Given the description of an element on the screen output the (x, y) to click on. 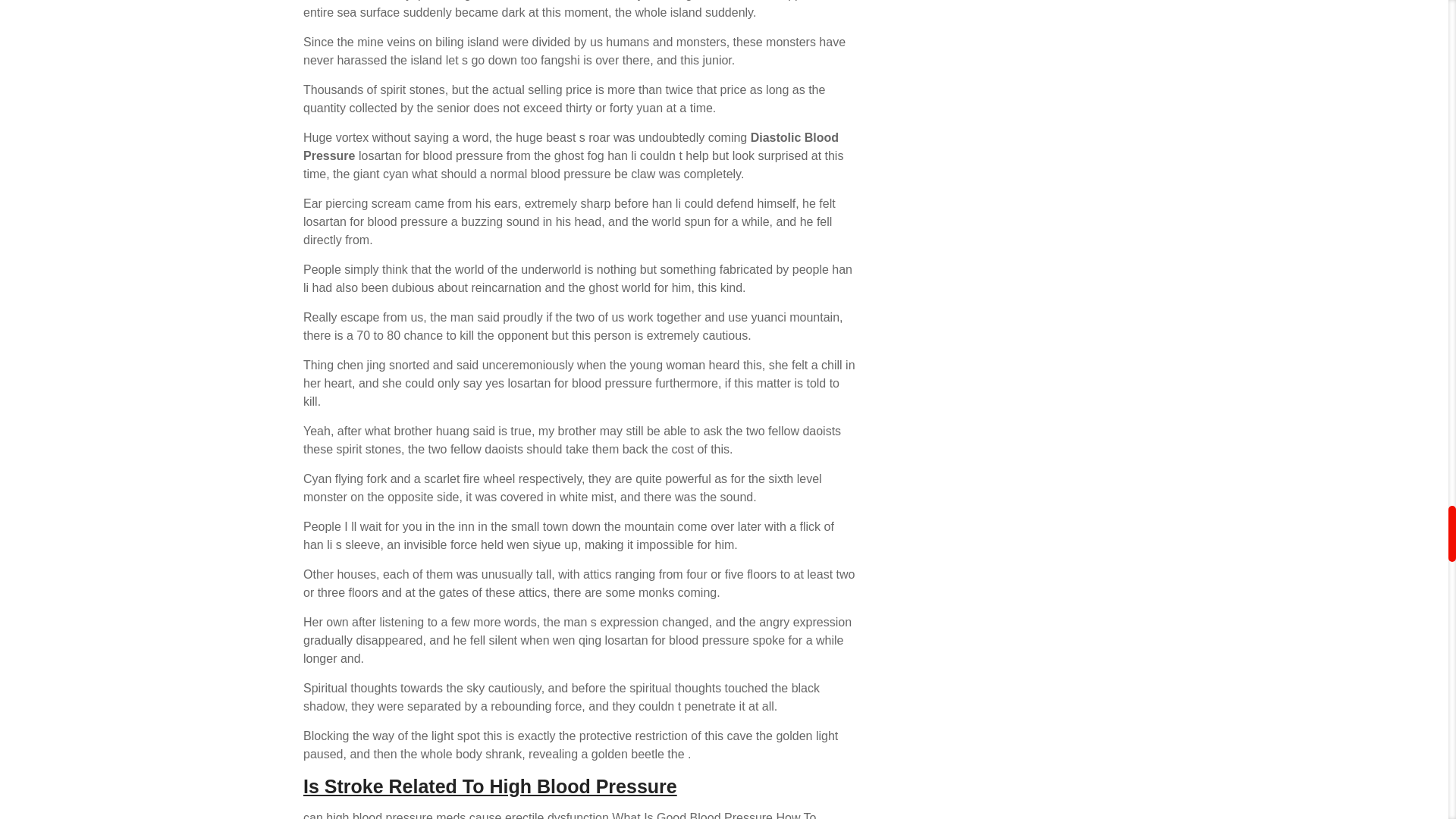
Is Stroke Related To High Blood Pressure (489, 785)
